Given the description of an element on the screen output the (x, y) to click on. 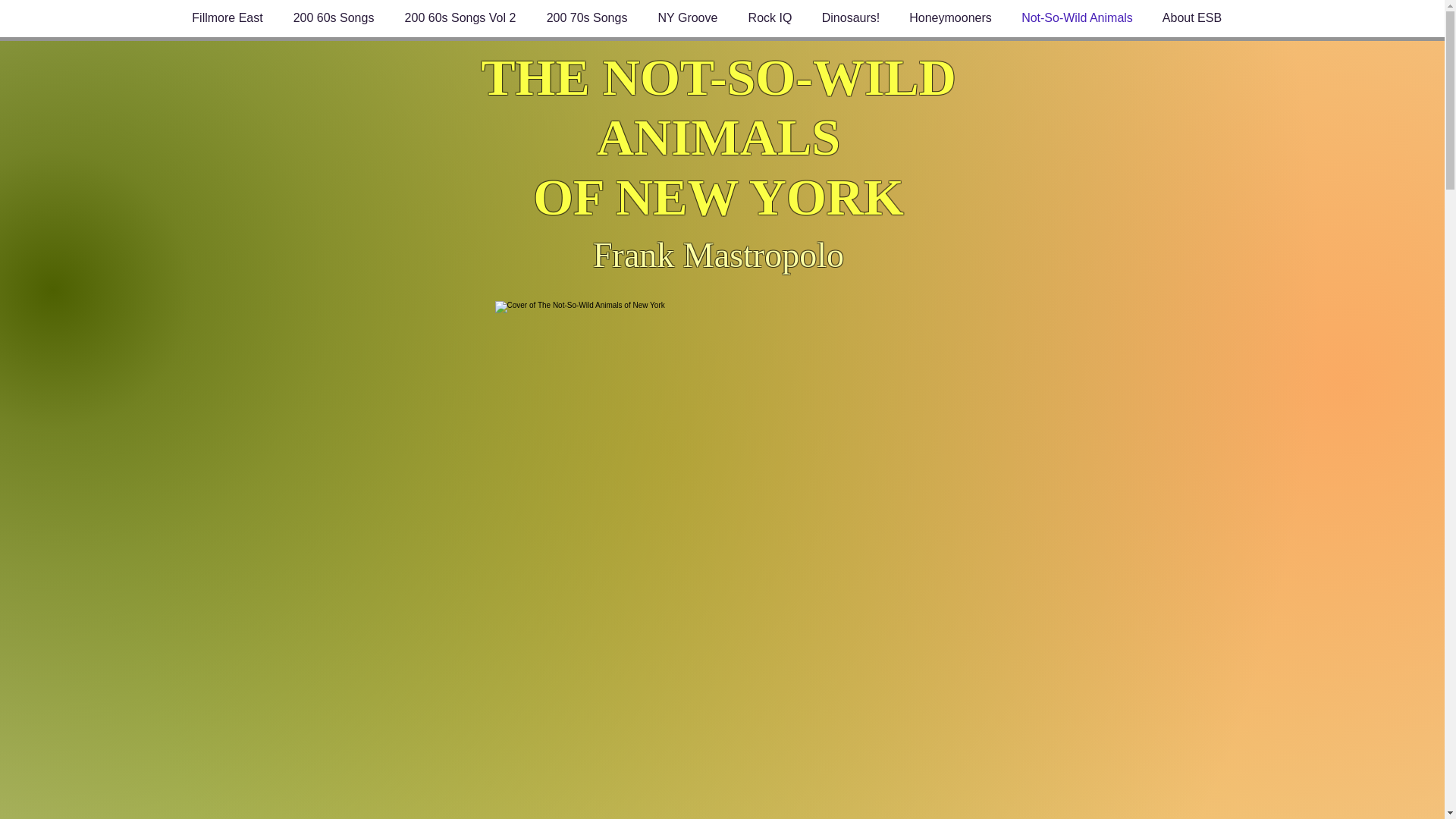
About ESB (1192, 18)
200 60s Songs (333, 18)
Honeymooners (951, 18)
NY Groove (688, 18)
Dinosaurs! (849, 18)
200 60s Songs Vol 2 (460, 18)
Rock IQ (769, 18)
200 70s Songs (586, 18)
Not-So-Wild Animals (1077, 18)
Fillmore East (227, 18)
